Given the description of an element on the screen output the (x, y) to click on. 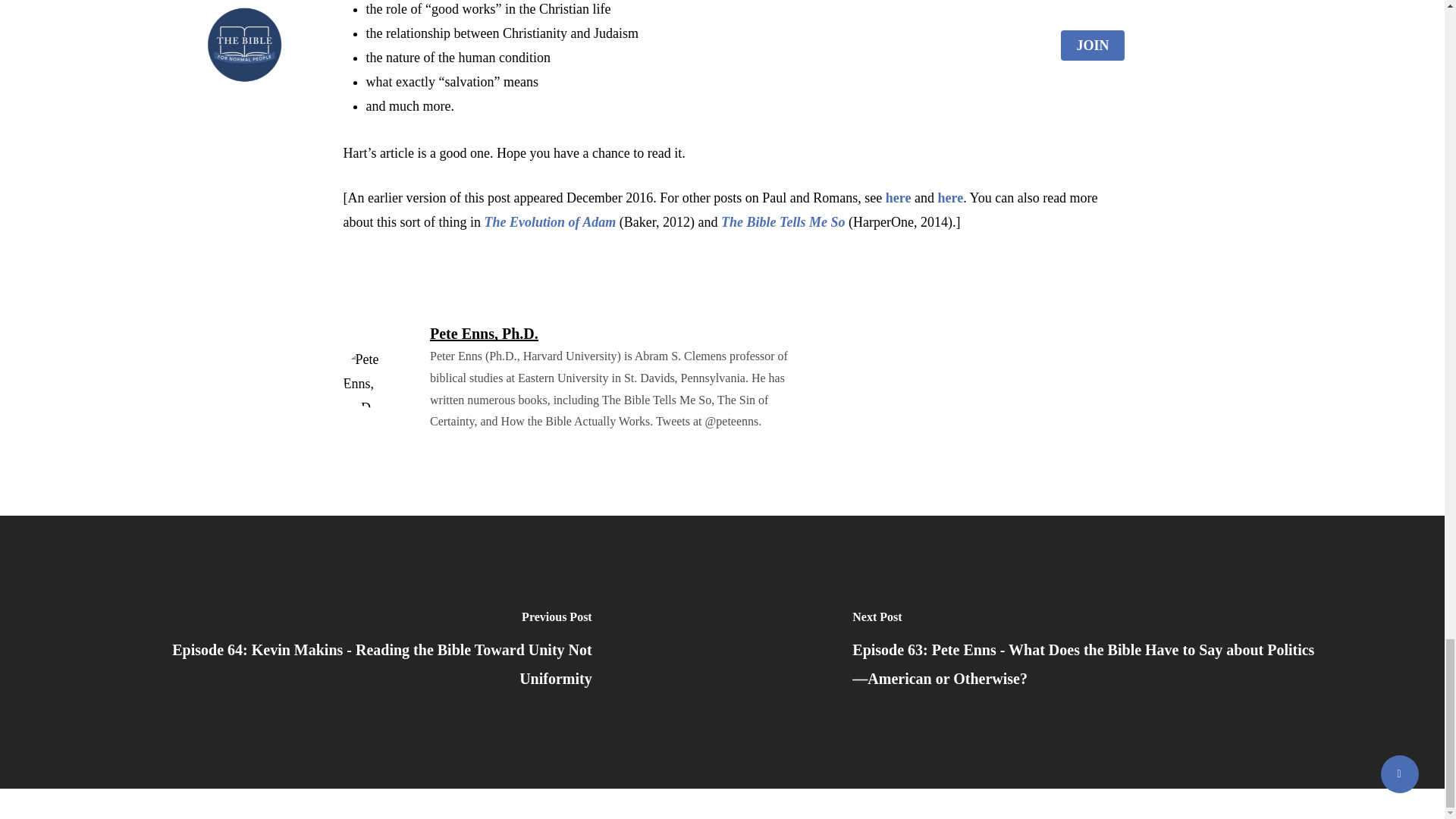
here (898, 197)
The Evolution of Adam (549, 222)
The Bible Tells Me So (782, 222)
here (949, 197)
Pete Enns, Ph.D. (483, 333)
